Given the description of an element on the screen output the (x, y) to click on. 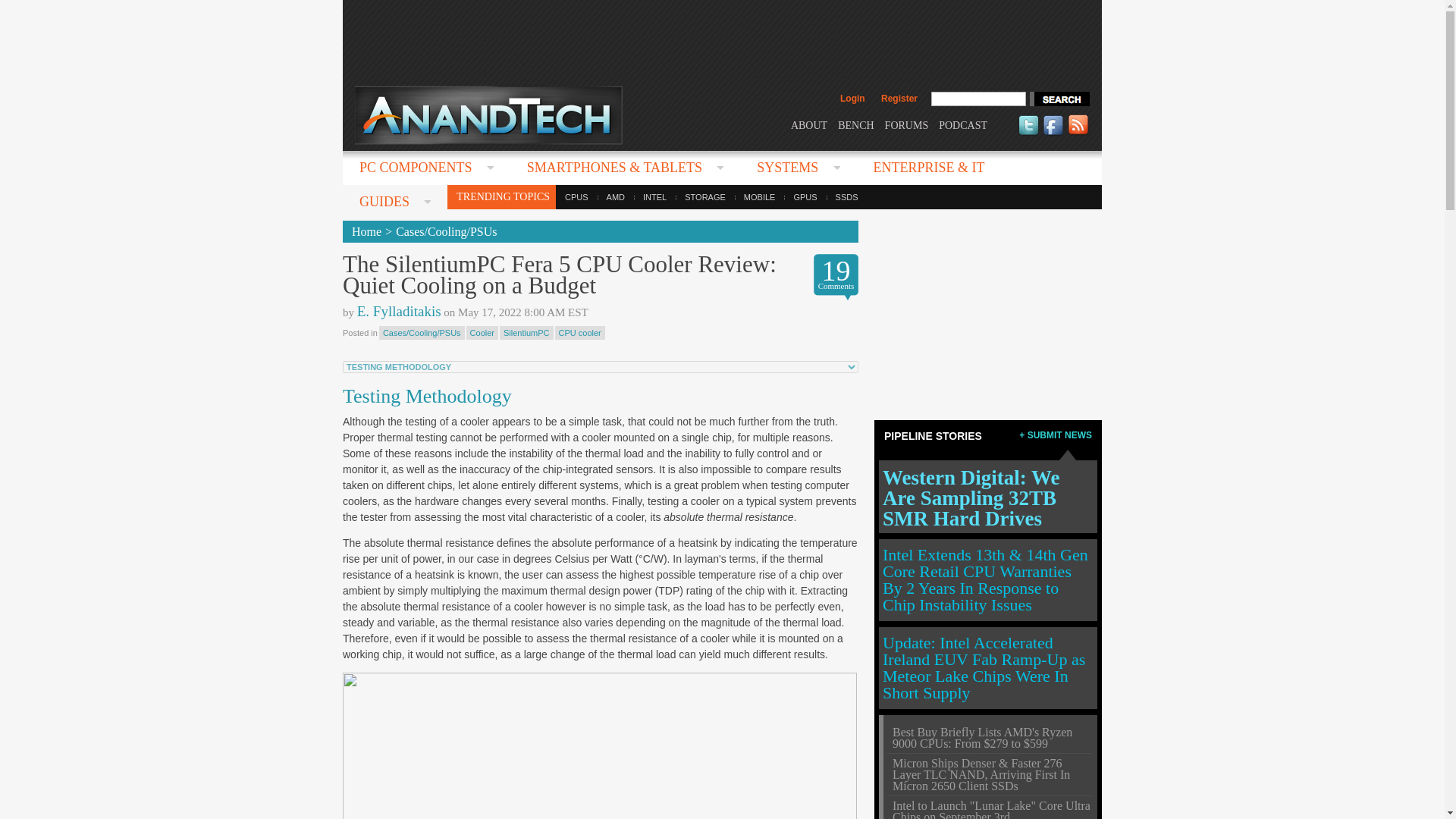
BENCH (855, 125)
PODCAST (963, 125)
ABOUT (808, 125)
Login (852, 98)
search (1059, 98)
Register (898, 98)
FORUMS (906, 125)
search (1059, 98)
search (1059, 98)
